Given the description of an element on the screen output the (x, y) to click on. 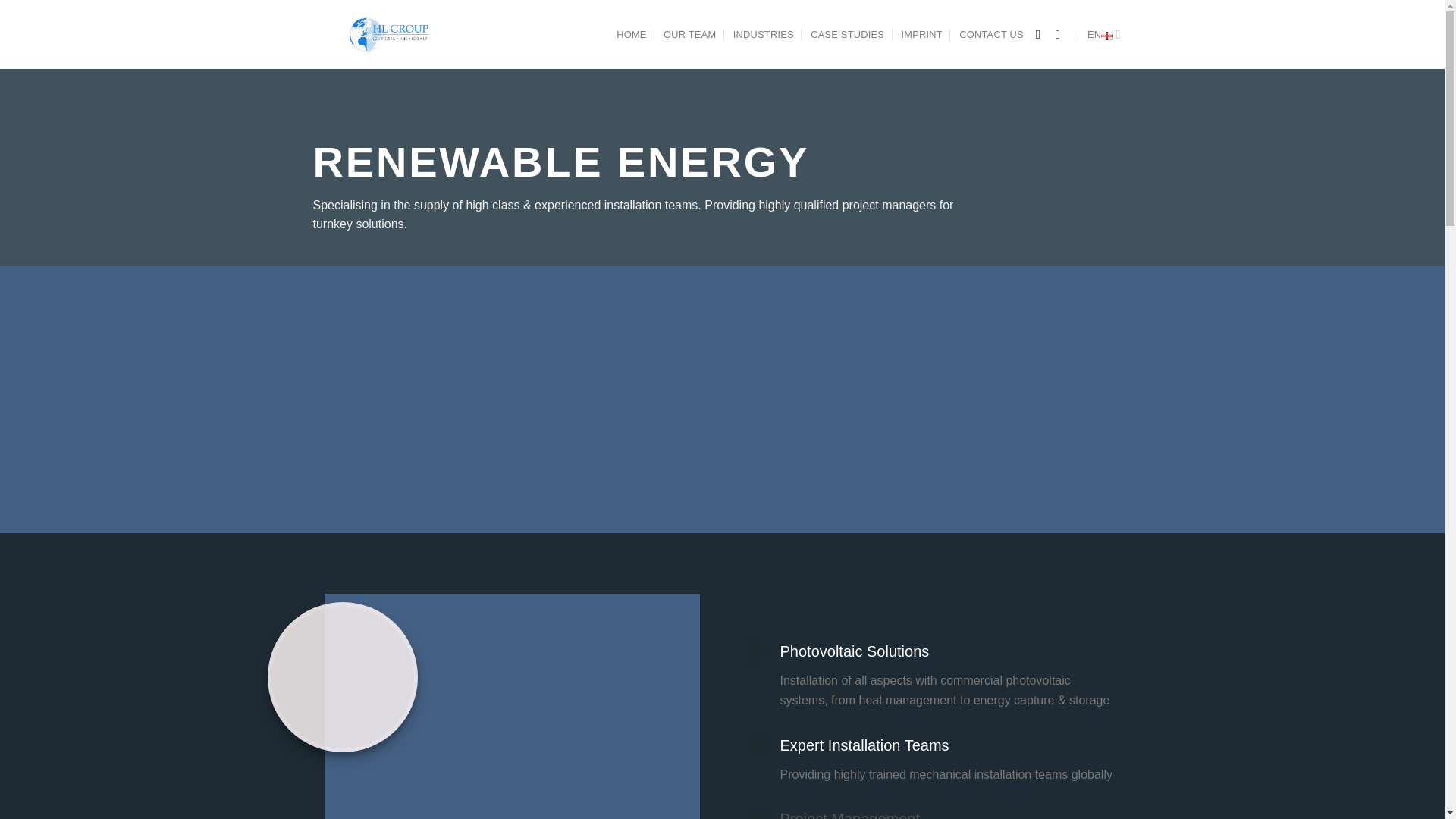
IMPRINT (921, 34)
EN (1104, 34)
H-L Group - Commercial Services (386, 33)
CASE STUDIES (846, 34)
Follow on Facebook (1041, 33)
Send us an email (1061, 33)
OUR TEAM (689, 34)
HOME (630, 34)
INDUSTRIES (763, 34)
CONTACT US (991, 34)
